Given the description of an element on the screen output the (x, y) to click on. 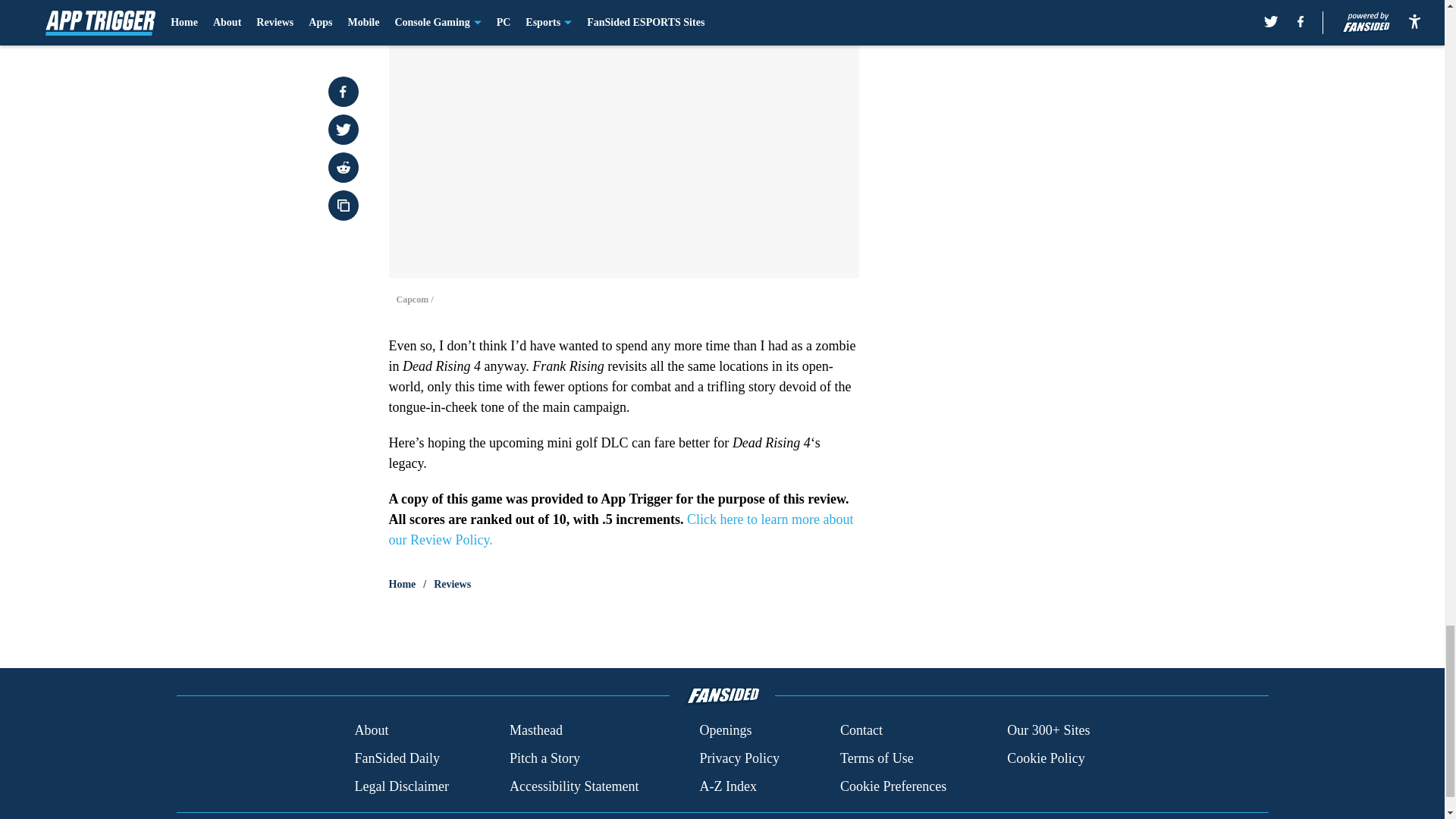
Pitch a Story (544, 757)
About (370, 730)
FanSided Daily (396, 757)
Reviews (451, 583)
Contact (861, 730)
Home (401, 583)
Privacy Policy (738, 757)
Click here to learn more about our Review Policy. (620, 529)
Masthead (535, 730)
Openings (724, 730)
